Given the description of an element on the screen output the (x, y) to click on. 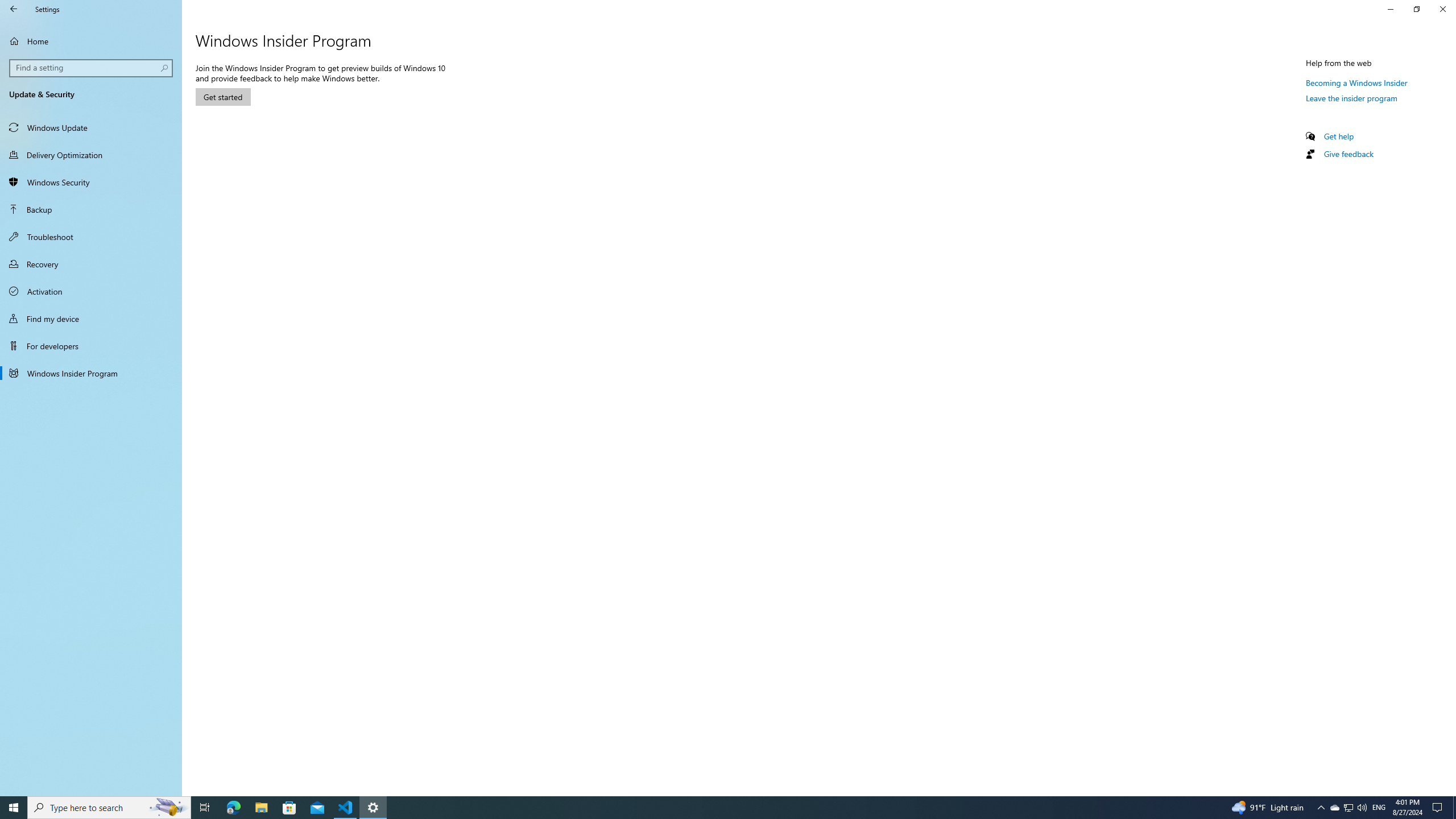
Troubleshoot (91, 236)
Windows Update (91, 126)
Backup (91, 208)
Activation (91, 290)
Get started (222, 96)
Find my device (91, 318)
